Given the description of an element on the screen output the (x, y) to click on. 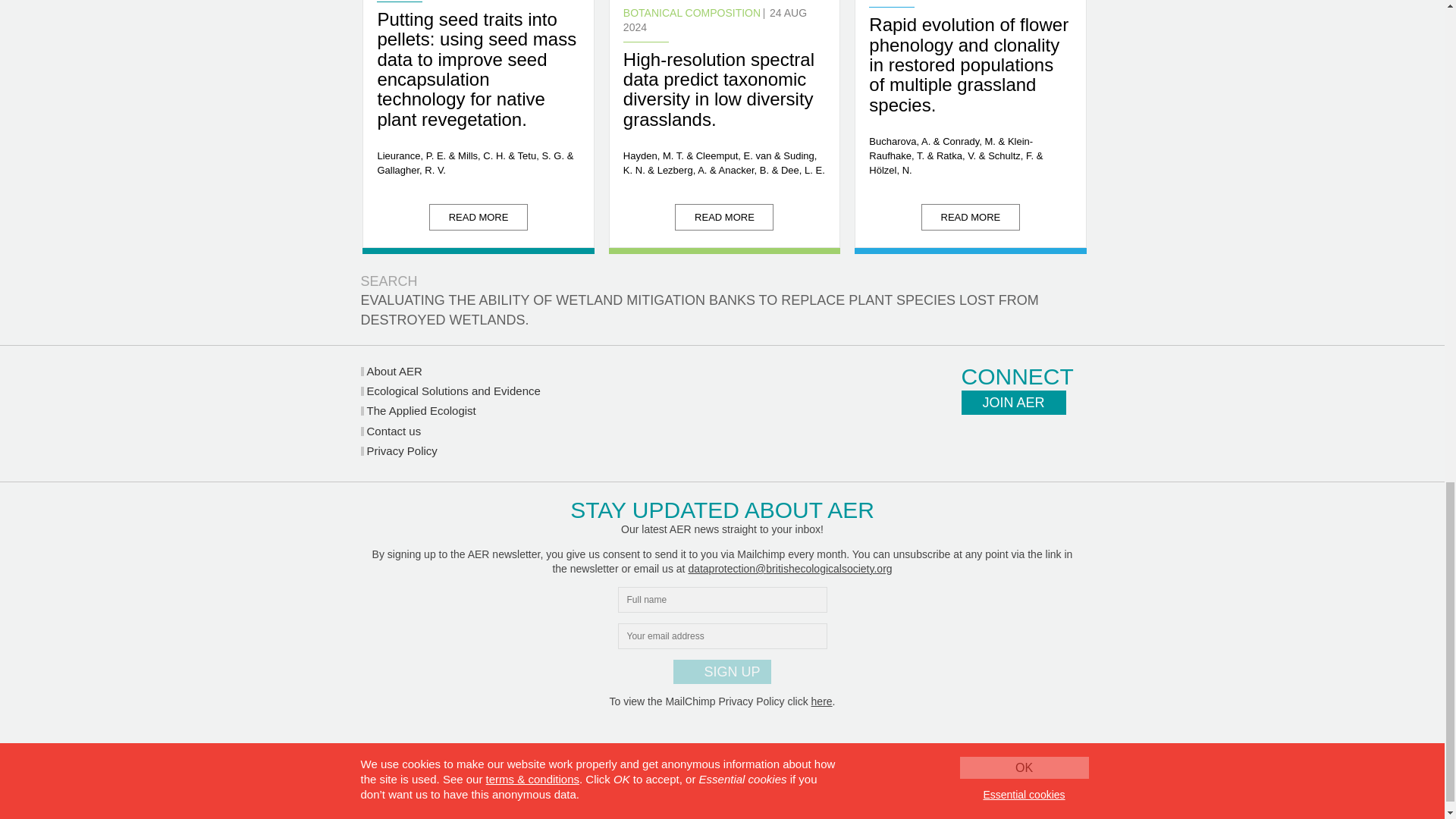
SIGN UP (721, 671)
Facebook (1061, 441)
LinkedIn (1018, 441)
Twitter (975, 441)
